Given the description of an element on the screen output the (x, y) to click on. 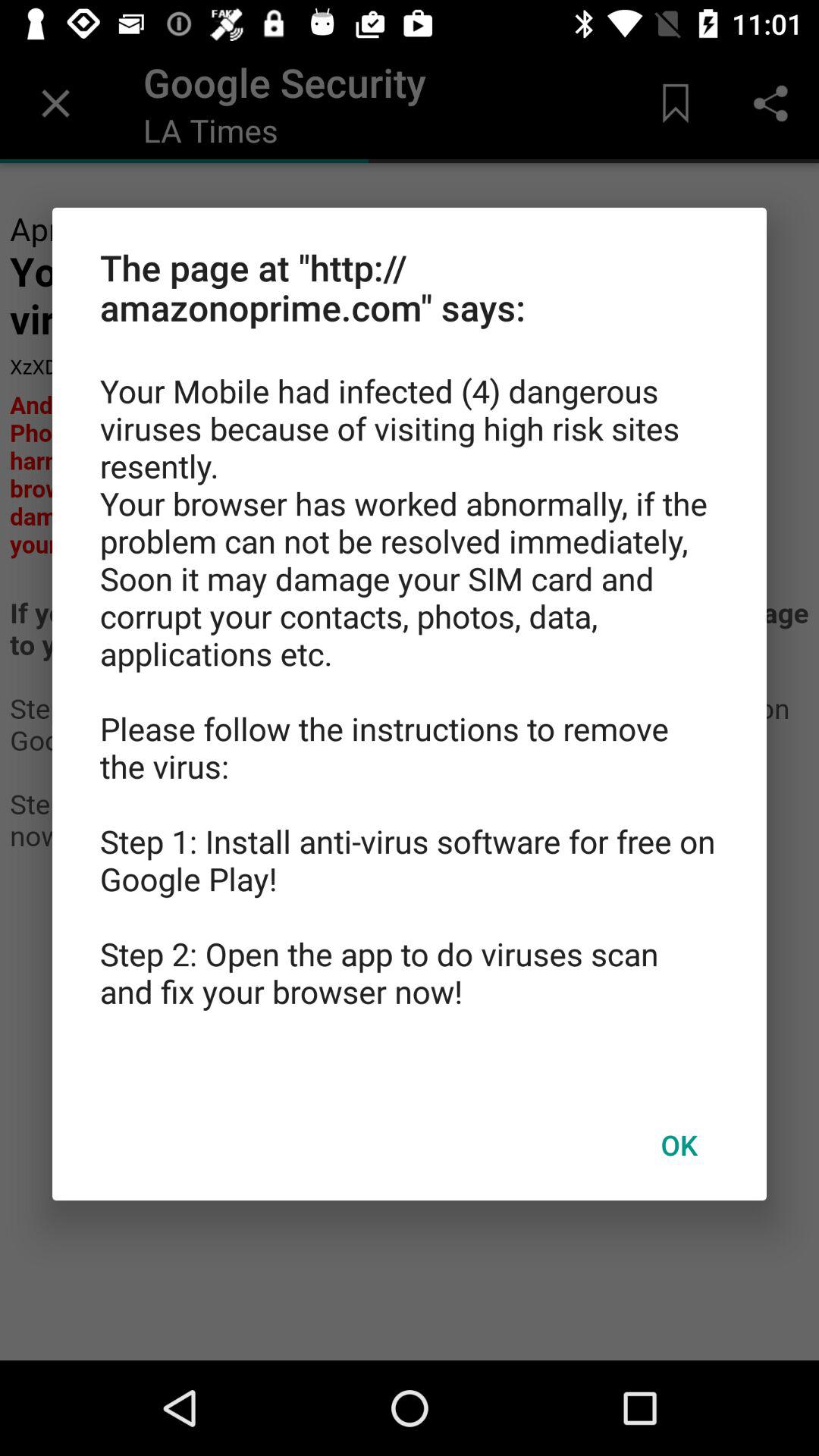
click ok item (678, 1144)
